Given the description of an element on the screen output the (x, y) to click on. 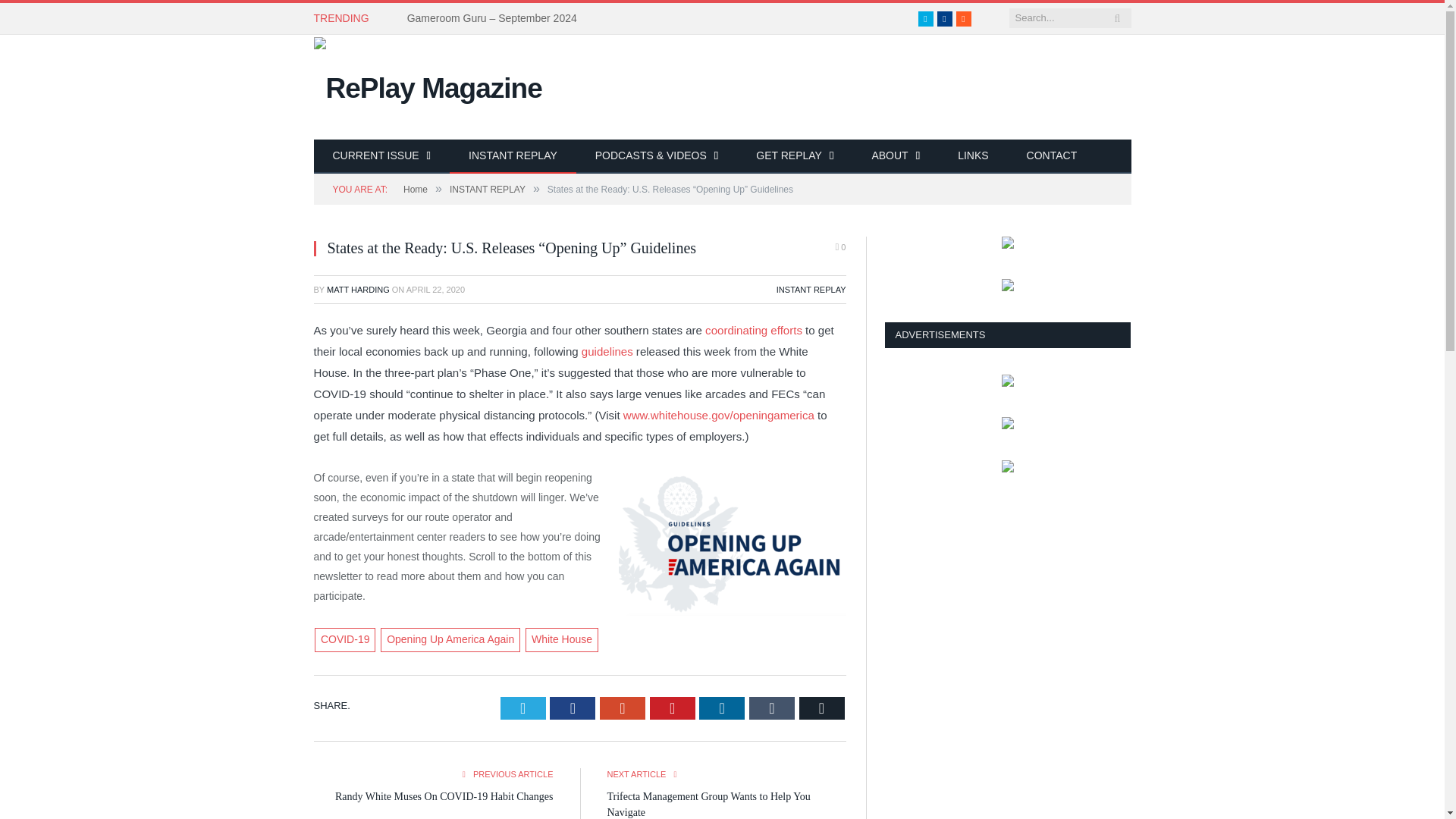
Facebook (944, 18)
RePlay Magazine (427, 85)
Tweet It (523, 707)
Twitter (925, 18)
Facebook (944, 18)
Twitter (925, 18)
RSS (963, 18)
Share on Facebook (572, 707)
Posts by Matt Harding (358, 289)
RSS (963, 18)
